Given the description of an element on the screen output the (x, y) to click on. 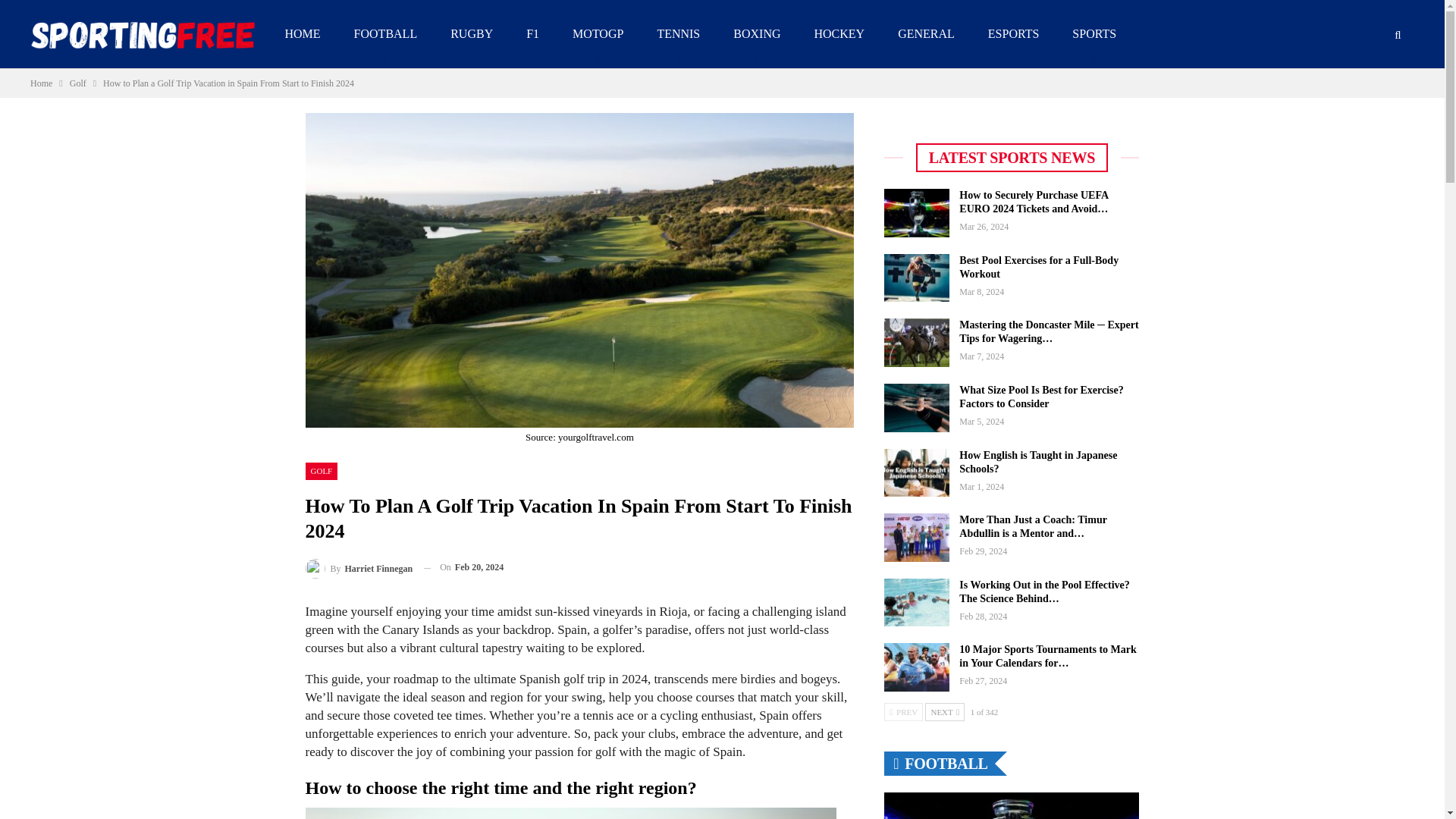
Best Pool Exercises for a Full-Body Workout (916, 277)
ESPORTS (1013, 33)
FOOTBALL (386, 33)
What Size Pool Is Best for Exercise? Factors to Consider (916, 408)
MOTOGP (597, 33)
Previous (903, 711)
